Given the description of an element on the screen output the (x, y) to click on. 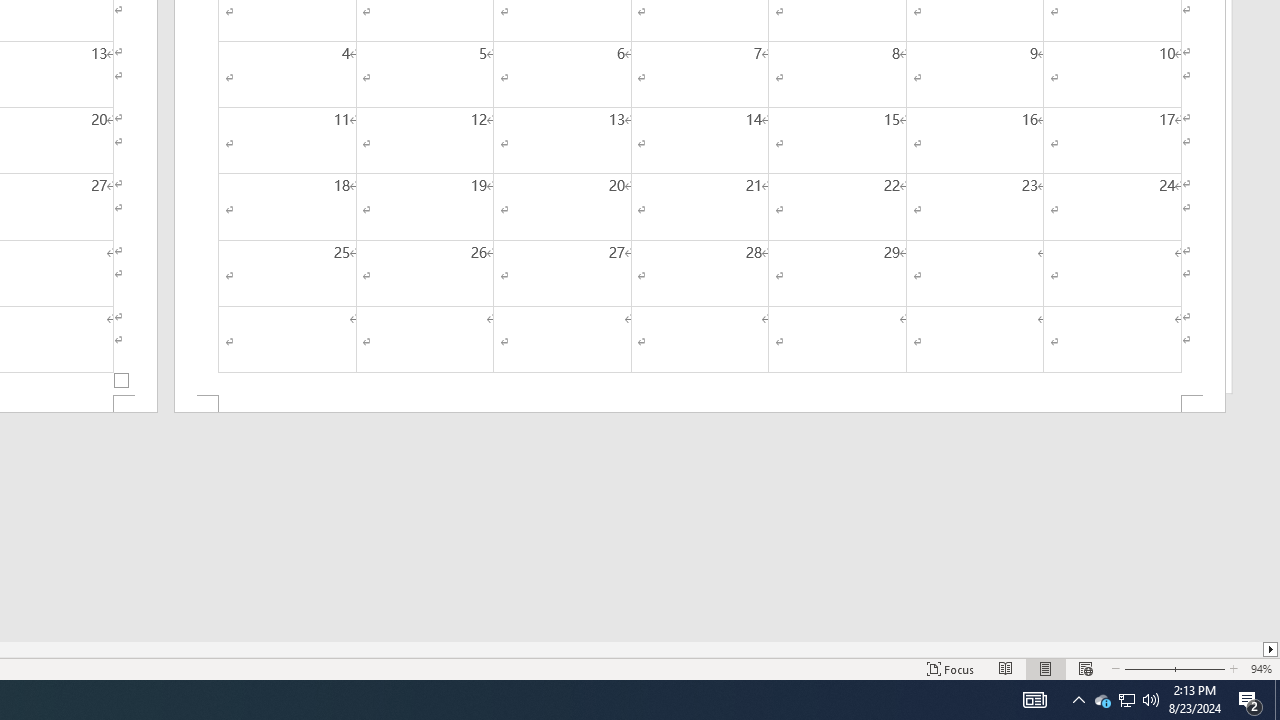
Column right (1271, 649)
Footer -Section 2- (700, 404)
